Given the description of an element on the screen output the (x, y) to click on. 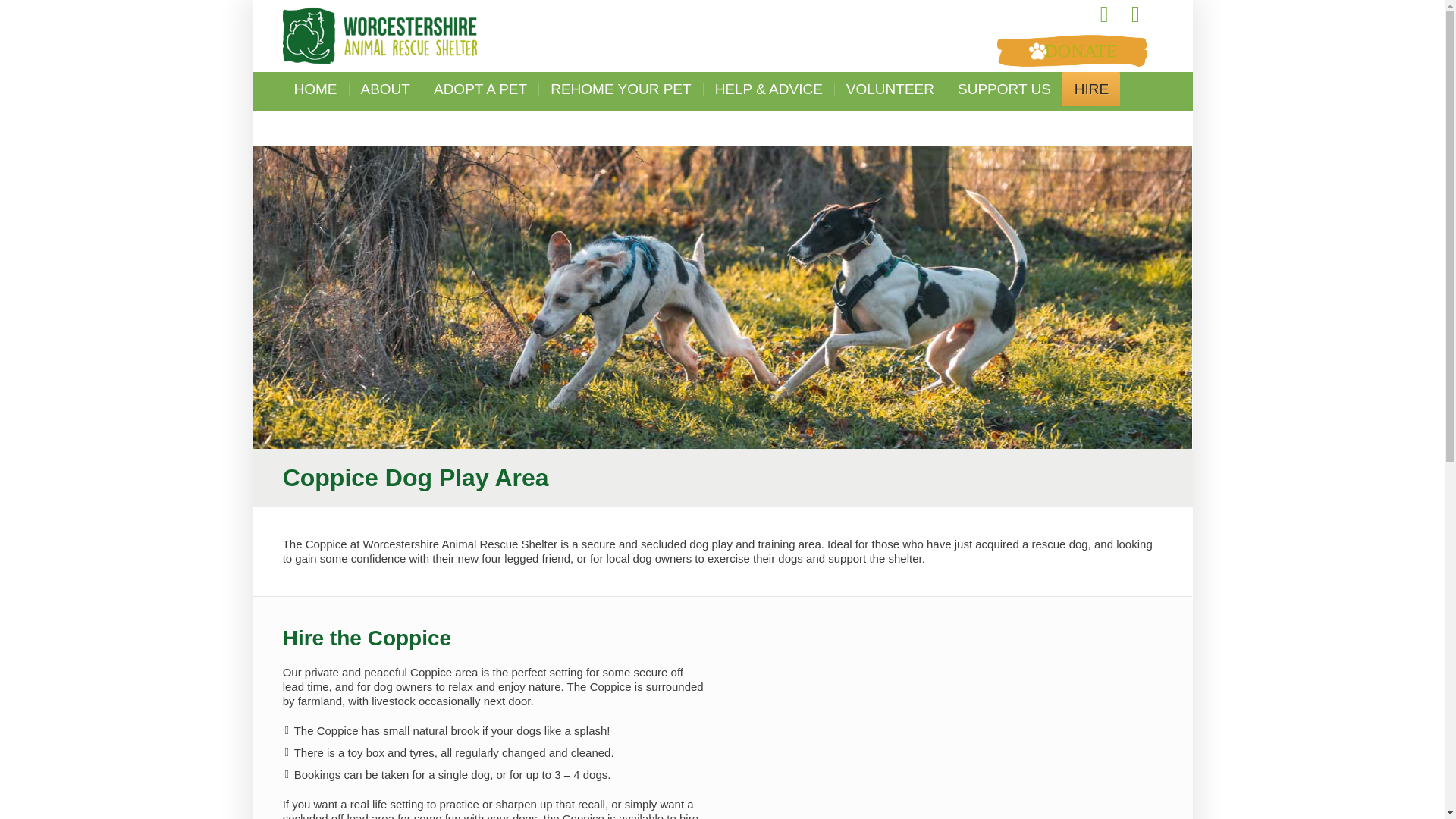
ADOPT A PET (480, 89)
ABOUT (385, 89)
SUPPORT US (1003, 89)
Instagram (1135, 14)
VOLUNTEER (889, 89)
HOME (314, 89)
Facebook (1104, 14)
DONATE (1071, 50)
REHOME YOUR PET (619, 89)
